Given the description of an element on the screen output the (x, y) to click on. 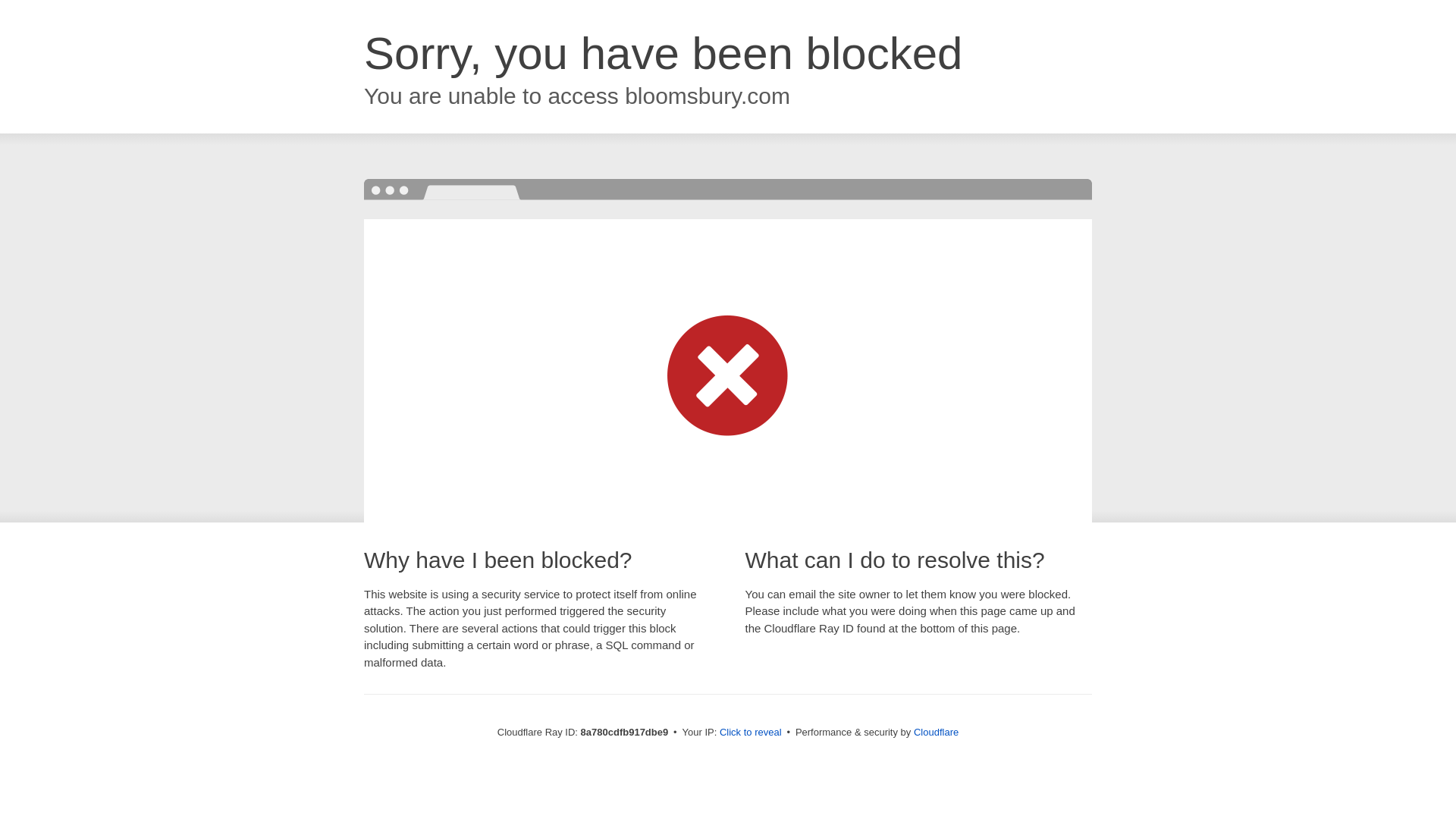
Click to reveal (750, 732)
Cloudflare (936, 731)
